Given the description of an element on the screen output the (x, y) to click on. 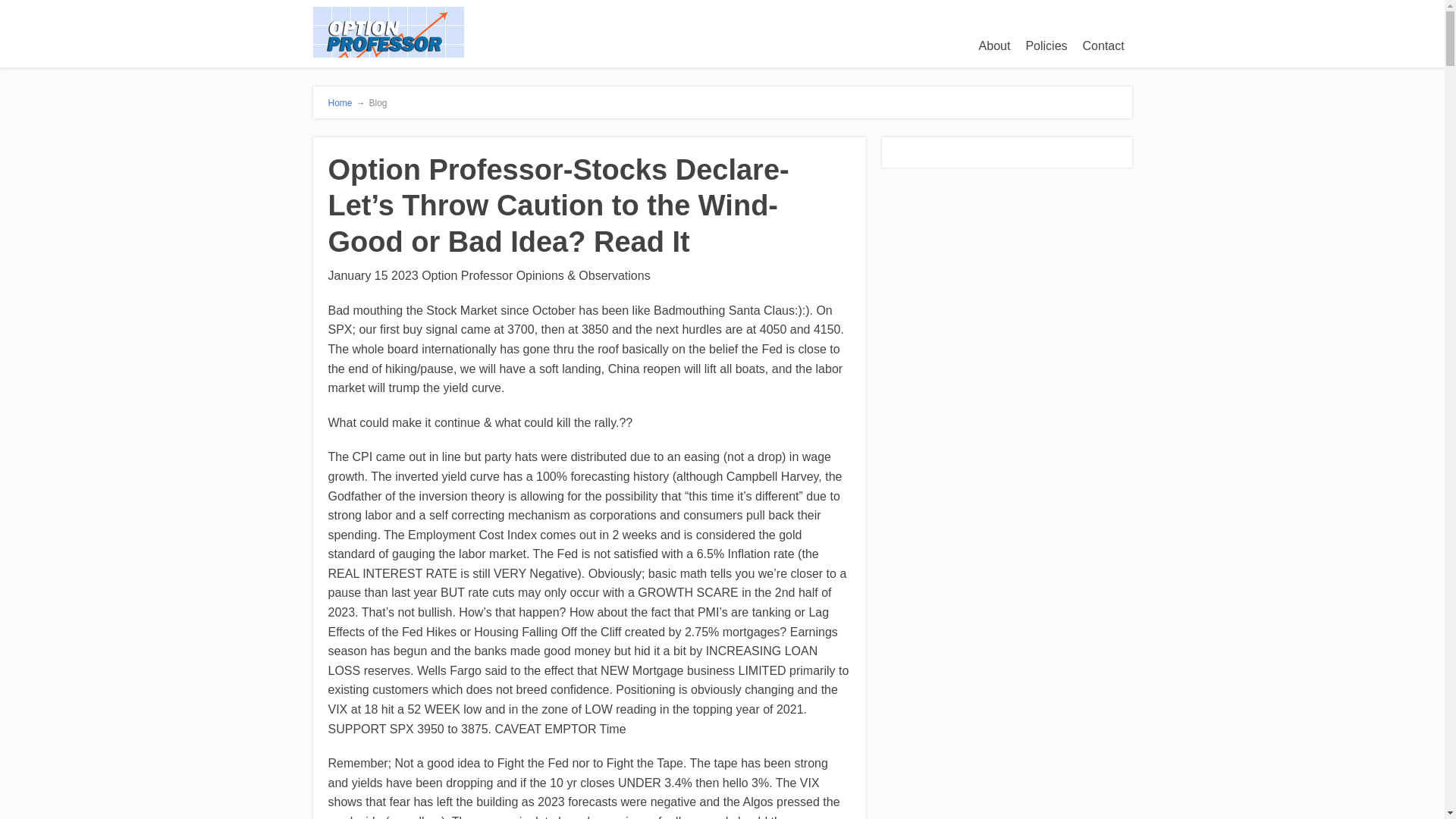
Policies (1045, 45)
Contact (1103, 45)
About (994, 45)
